Given the description of an element on the screen output the (x, y) to click on. 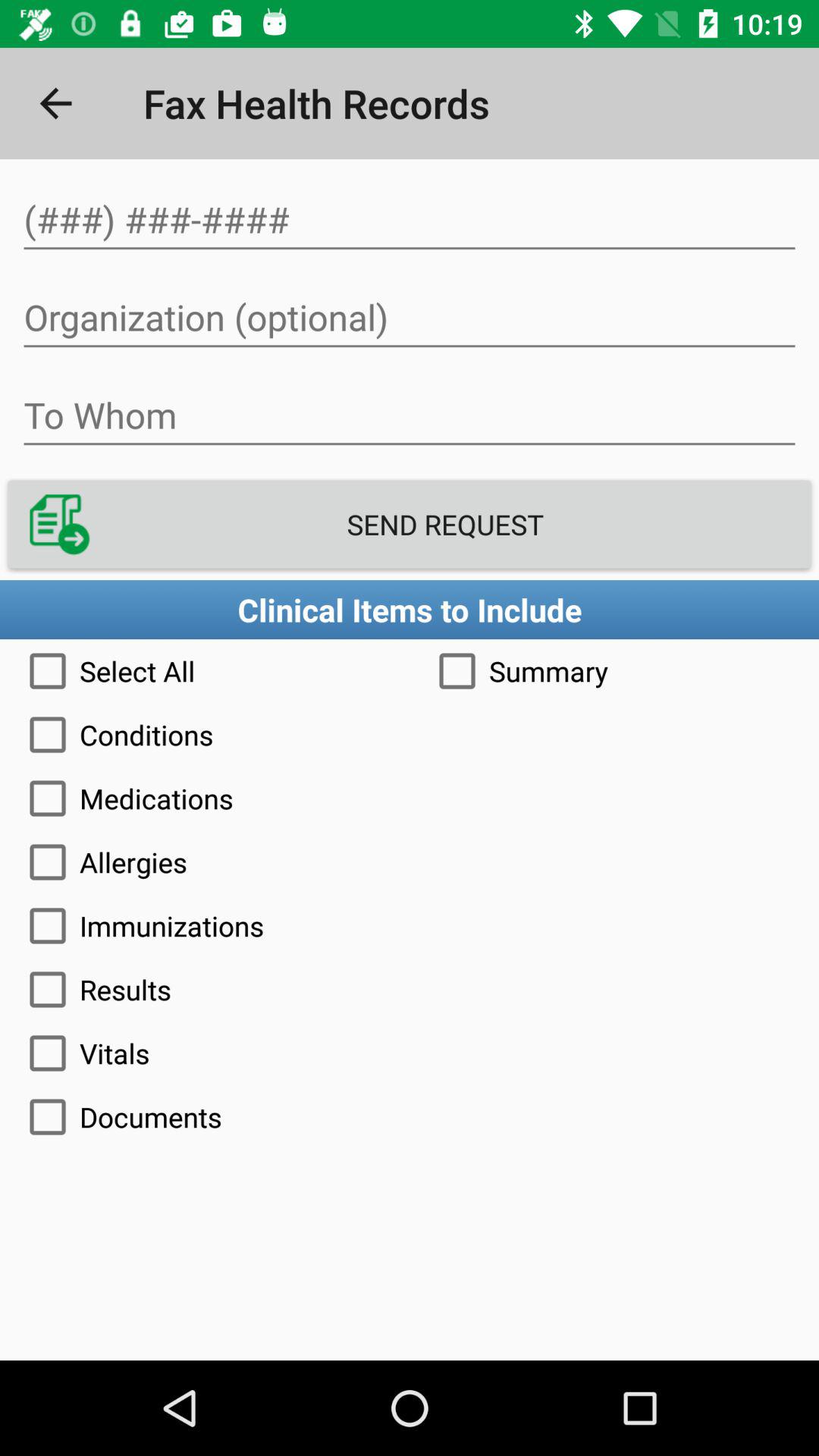
turn on the icon above allergies (409, 798)
